Given the description of an element on the screen output the (x, y) to click on. 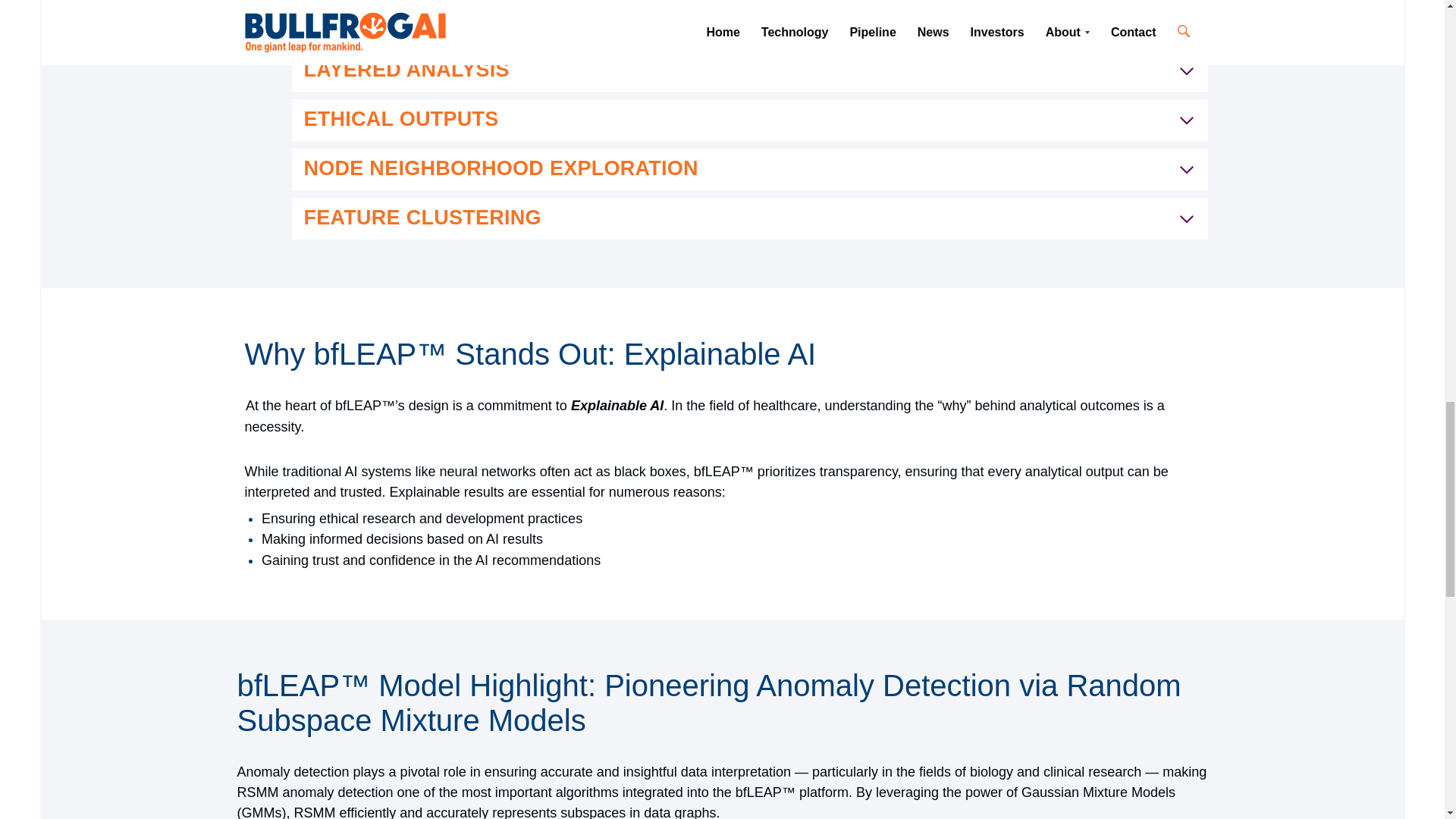
LAYERED ANALYSIS (749, 70)
FEATURE CLUSTERING (749, 218)
ETHICAL OUTPUTS (749, 119)
NODE NEIGHBORHOOD EXPLORATION (749, 169)
